Given the description of an element on the screen output the (x, y) to click on. 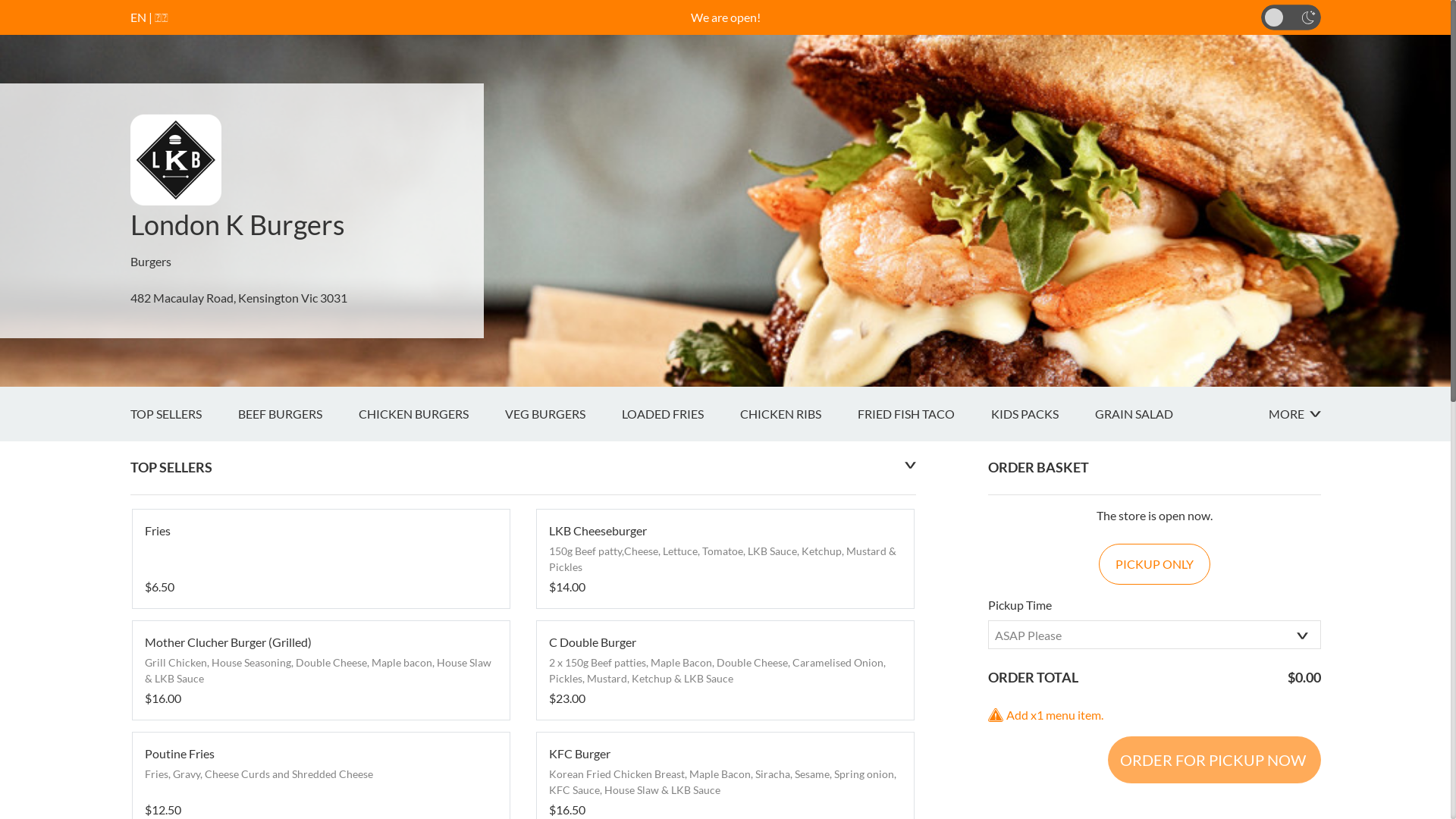
CHICKEN BURGERS Element type: text (430, 413)
MORE Element type: text (1293, 413)
BEEF BURGERS Element type: text (298, 413)
VEG BURGERS Element type: text (563, 413)
London K Burgers Element type: text (237, 224)
Fries
$6.50 Element type: text (320, 558)
KIDS PACKS Element type: text (1042, 413)
CHICKEN RIBS Element type: text (798, 413)
GRAIN SALAD Element type: text (1152, 413)
TOP SELLERS Element type: text (184, 413)
Fries
$6.50 Element type: text (320, 558)
LOADED FRIES Element type: text (680, 413)
FRIED FISH TACO Element type: text (923, 413)
ORDER FOR PICKUP NOW  Element type: text (1213, 759)
PICKUP ONLY Element type: text (1154, 563)
EN Element type: text (138, 16)
